Given the description of an element on the screen output the (x, y) to click on. 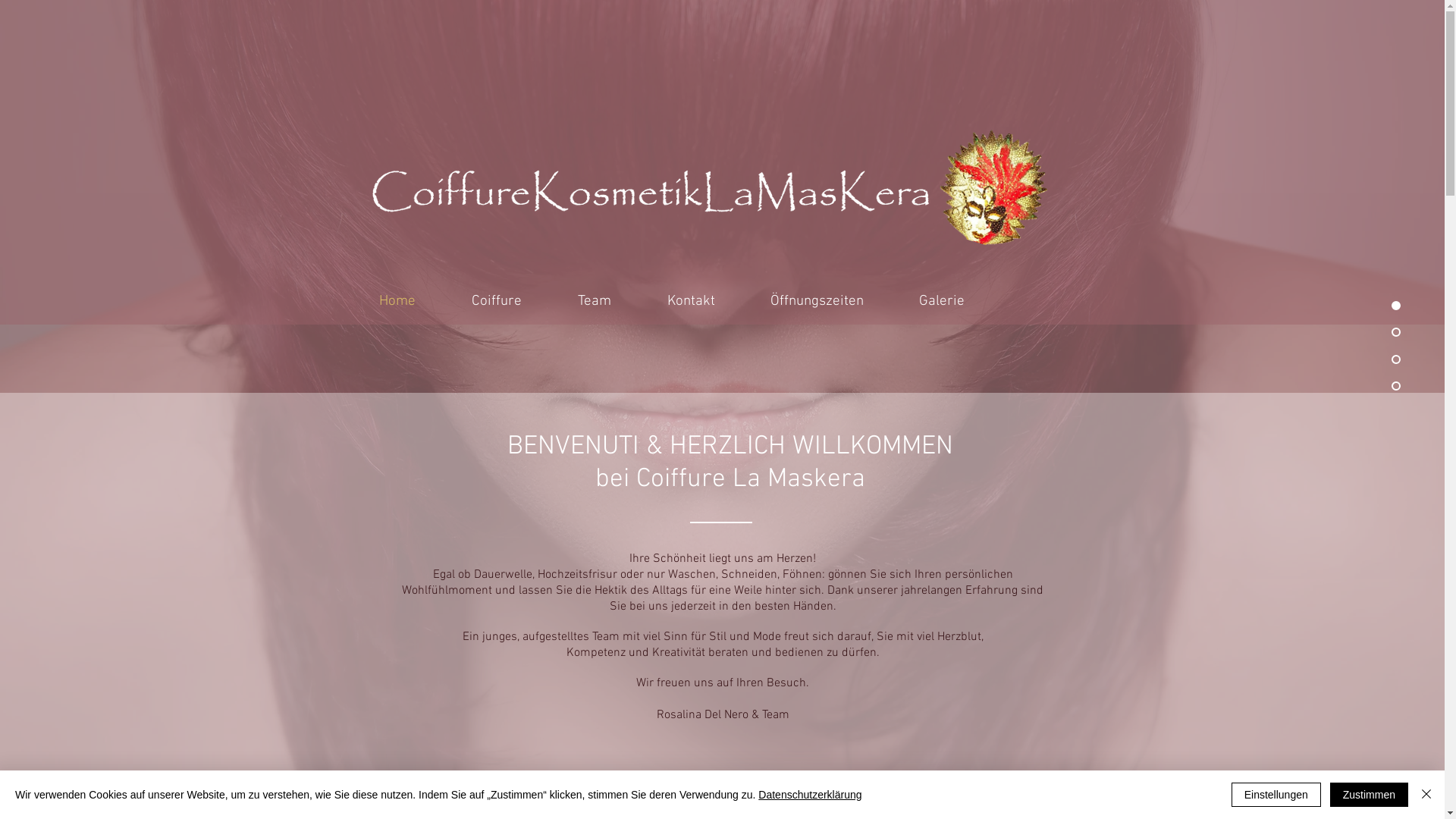
Galerie Element type: text (941, 299)
Coiffure Element type: text (495, 299)
Team Element type: text (593, 299)
Home Element type: text (396, 299)
Zustimmen Element type: text (1369, 794)
Einstellungen Element type: text (1276, 794)
Kontakt Element type: text (690, 299)
